Given the description of an element on the screen output the (x, y) to click on. 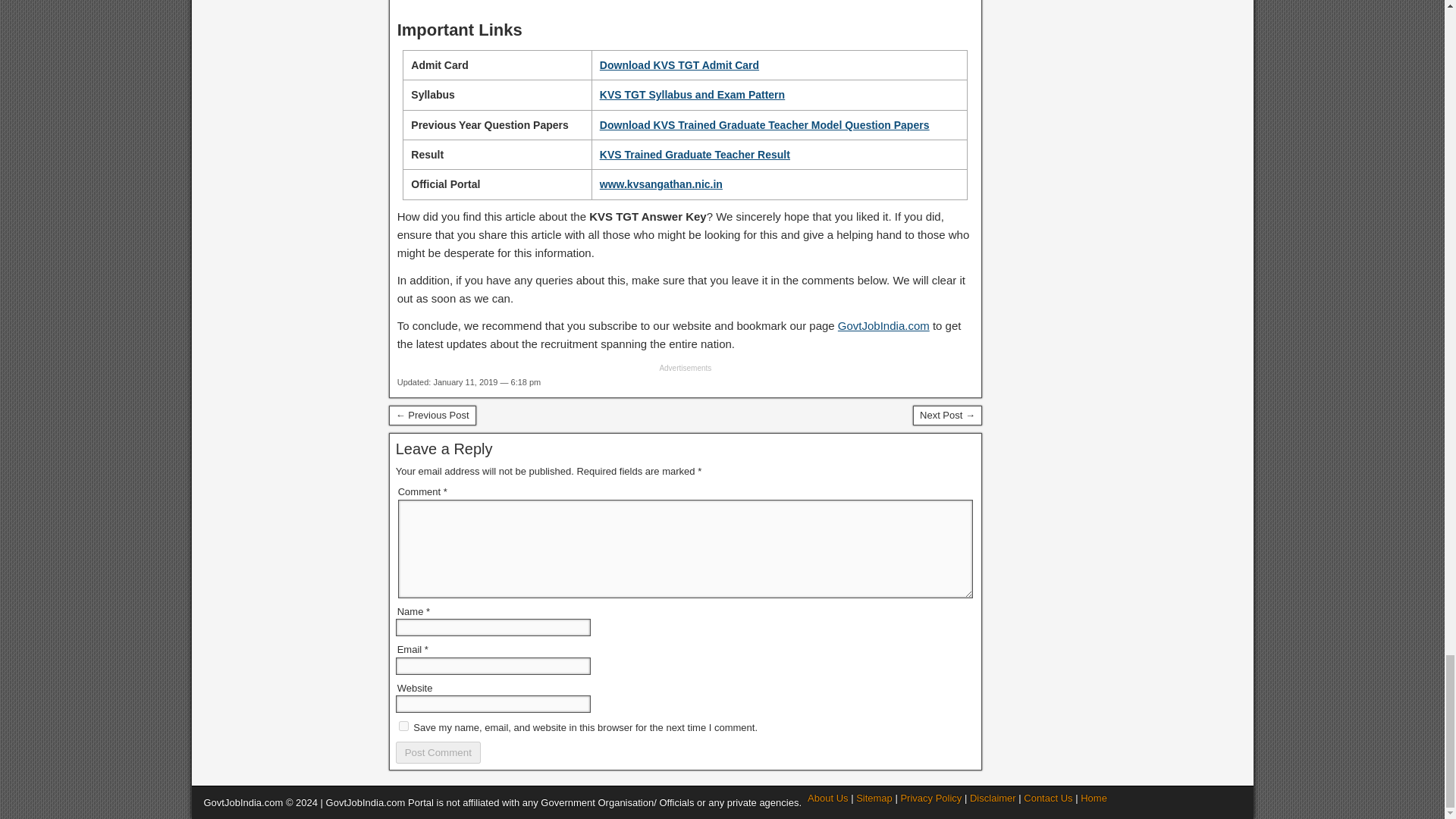
KVS TGT Syllabus and Exam Pattern (691, 94)
GovtJobIndia.com (884, 325)
yes (403, 726)
Post Comment (438, 752)
www.kvsangathan.nic.in (660, 184)
Download KVS Trained Graduate Teacher Model Question Papers (764, 124)
Post Comment (438, 752)
KVS Trained Graduate Teacher Result (694, 154)
Download KVS TGT Admit Card (678, 64)
